Given the description of an element on the screen output the (x, y) to click on. 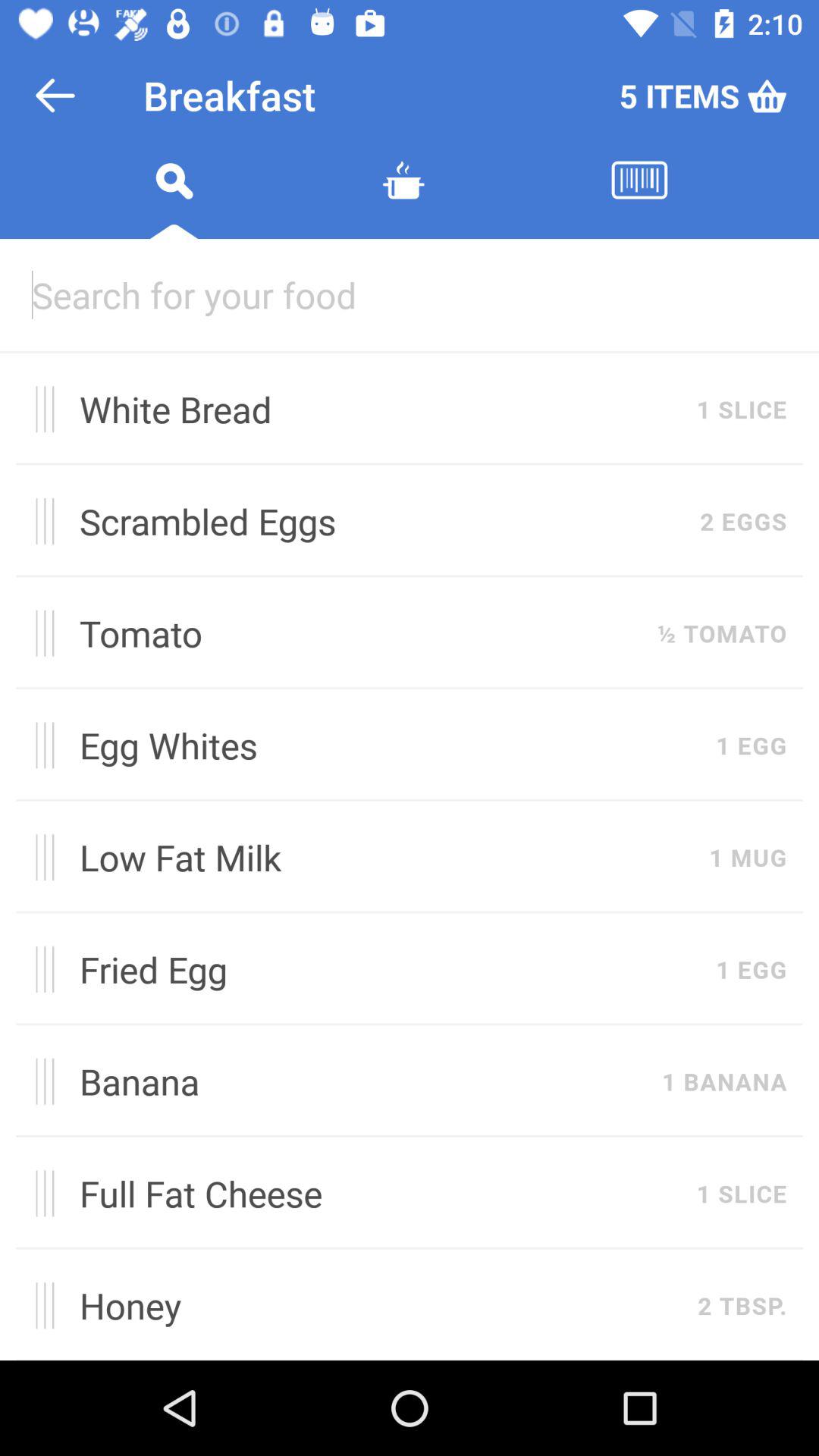
enter food you are searching for (409, 294)
